Given the description of an element on the screen output the (x, y) to click on. 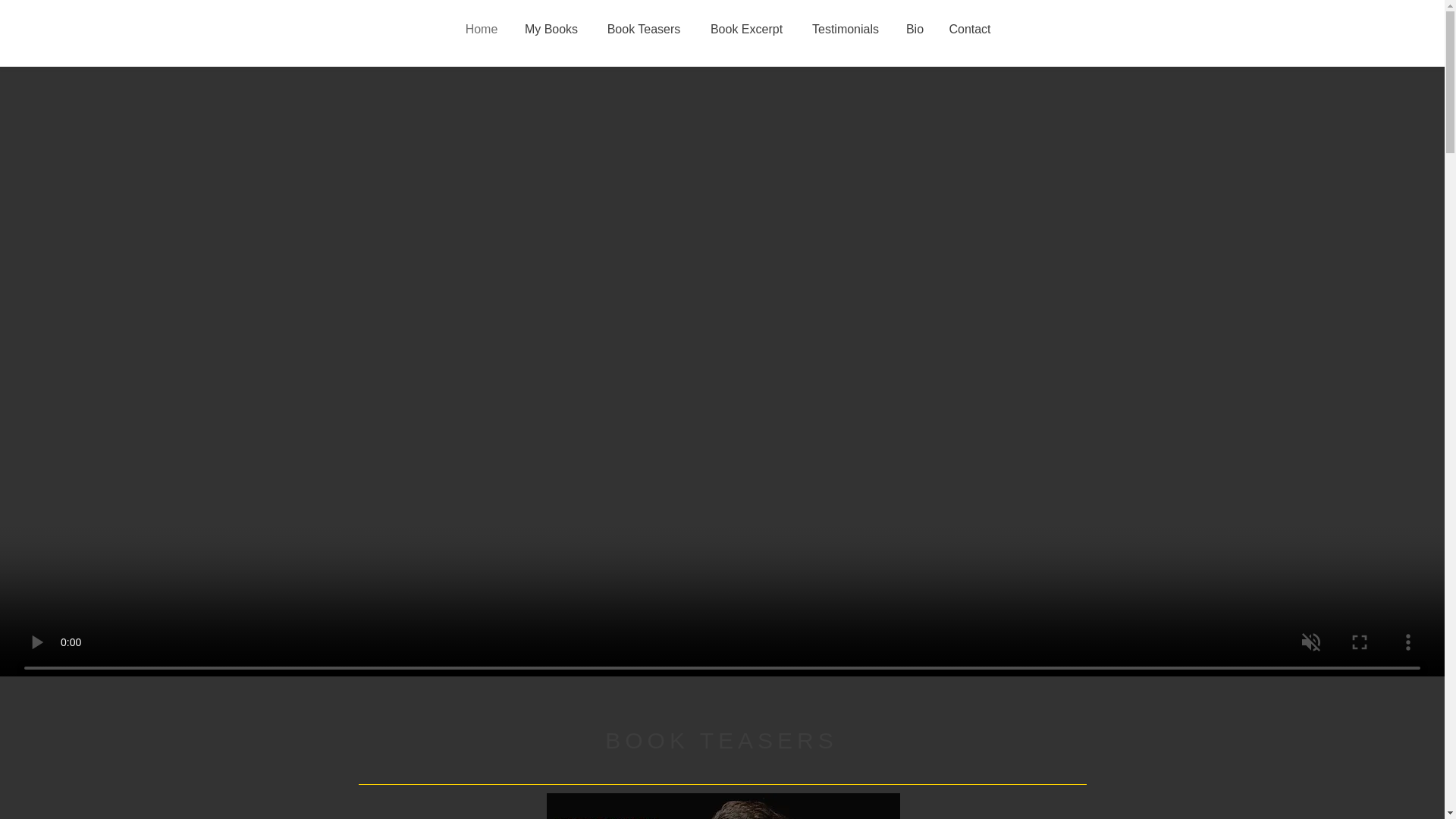
Home (481, 28)
Book Teasers (643, 28)
Contact (969, 28)
My Books (551, 28)
Book Excerpt (746, 28)
Bio (914, 28)
Testimonials (845, 28)
